Given the description of an element on the screen output the (x, y) to click on. 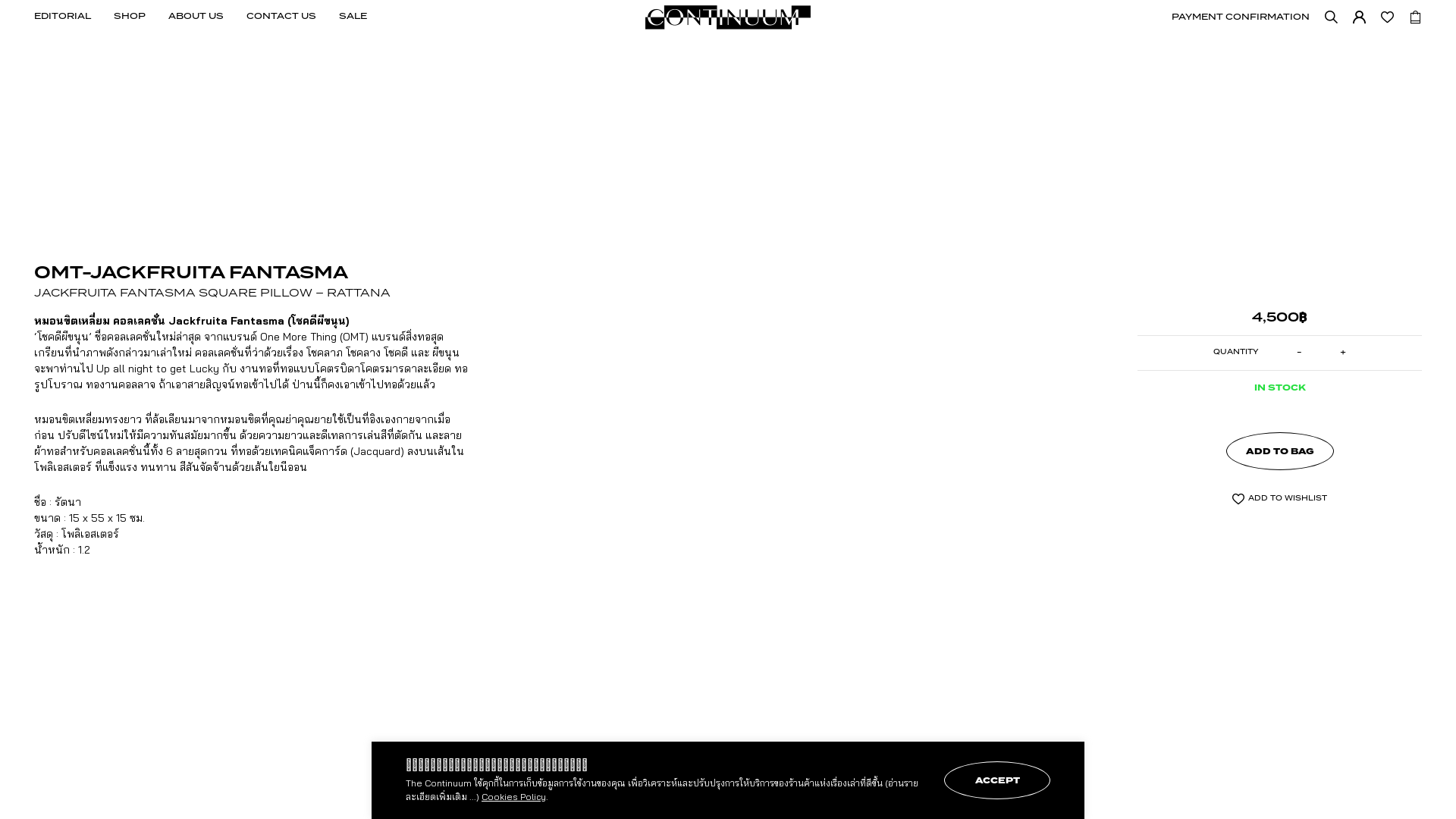
ADD TO BAG Element type: text (1279, 451)
ACCEPT Element type: text (997, 780)
- Element type: text (1305, 351)
EDITORIAL Element type: text (62, 16)
SALE Element type: text (352, 16)
ADD TO WISHLIST Element type: text (1279, 498)
CONTACT US Element type: text (281, 16)
PAYMENT CONFIRMATION Element type: text (1240, 16)
Cookies Policy Element type: text (513, 796)
SHOP Element type: text (129, 16)
+ Element type: text (1336, 351)
ABOUT US Element type: text (195, 16)
